Given the description of an element on the screen output the (x, y) to click on. 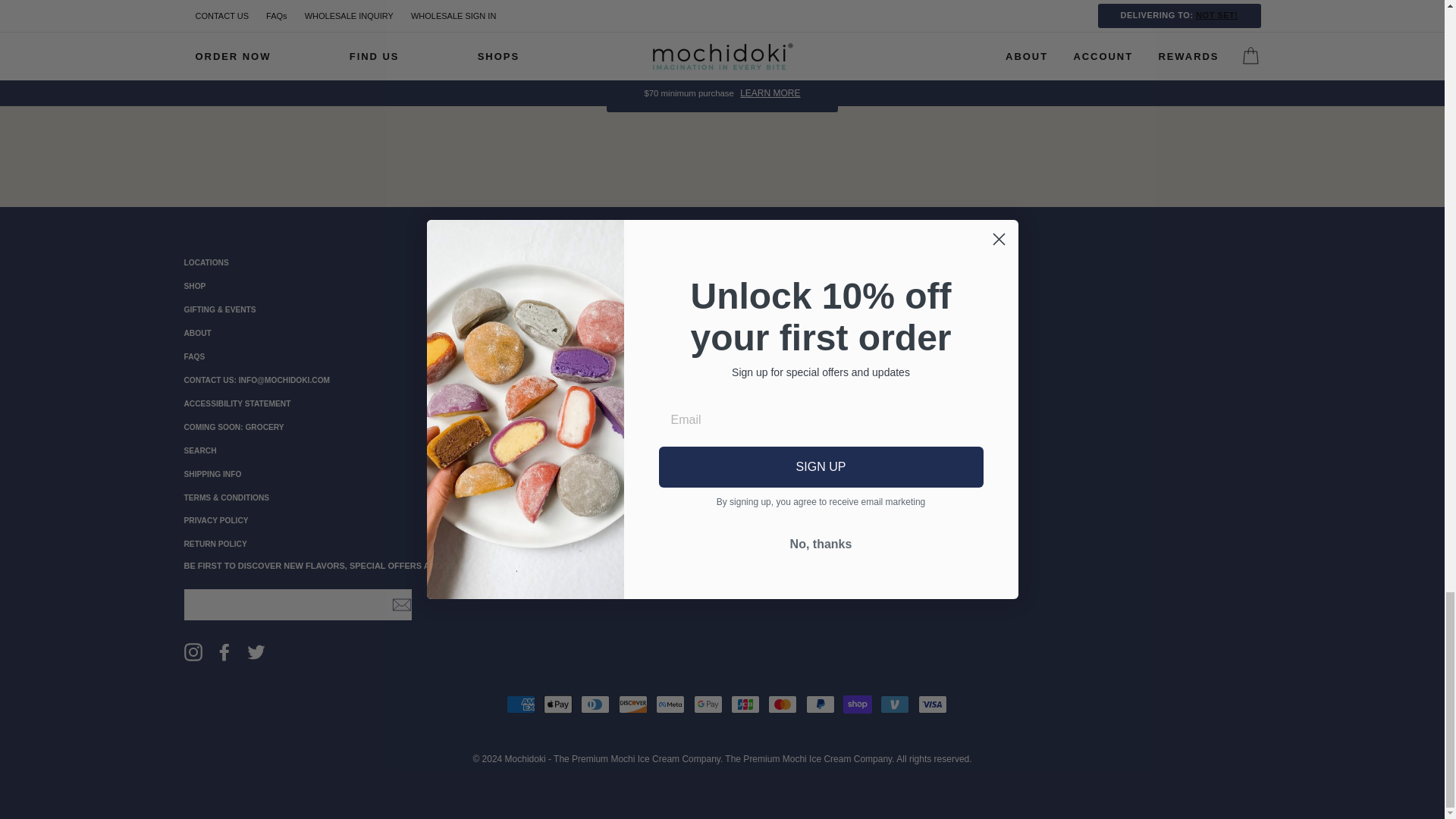
PayPal (820, 704)
Venmo (894, 704)
Shop Pay (857, 704)
Meta Pay (670, 704)
Mastercard (782, 704)
Discover (632, 704)
Visa (932, 704)
Diners Club (595, 704)
JCB (745, 704)
Google Pay (707, 704)
American Express (520, 704)
Apple Pay (557, 704)
